Given the description of an element on the screen output the (x, y) to click on. 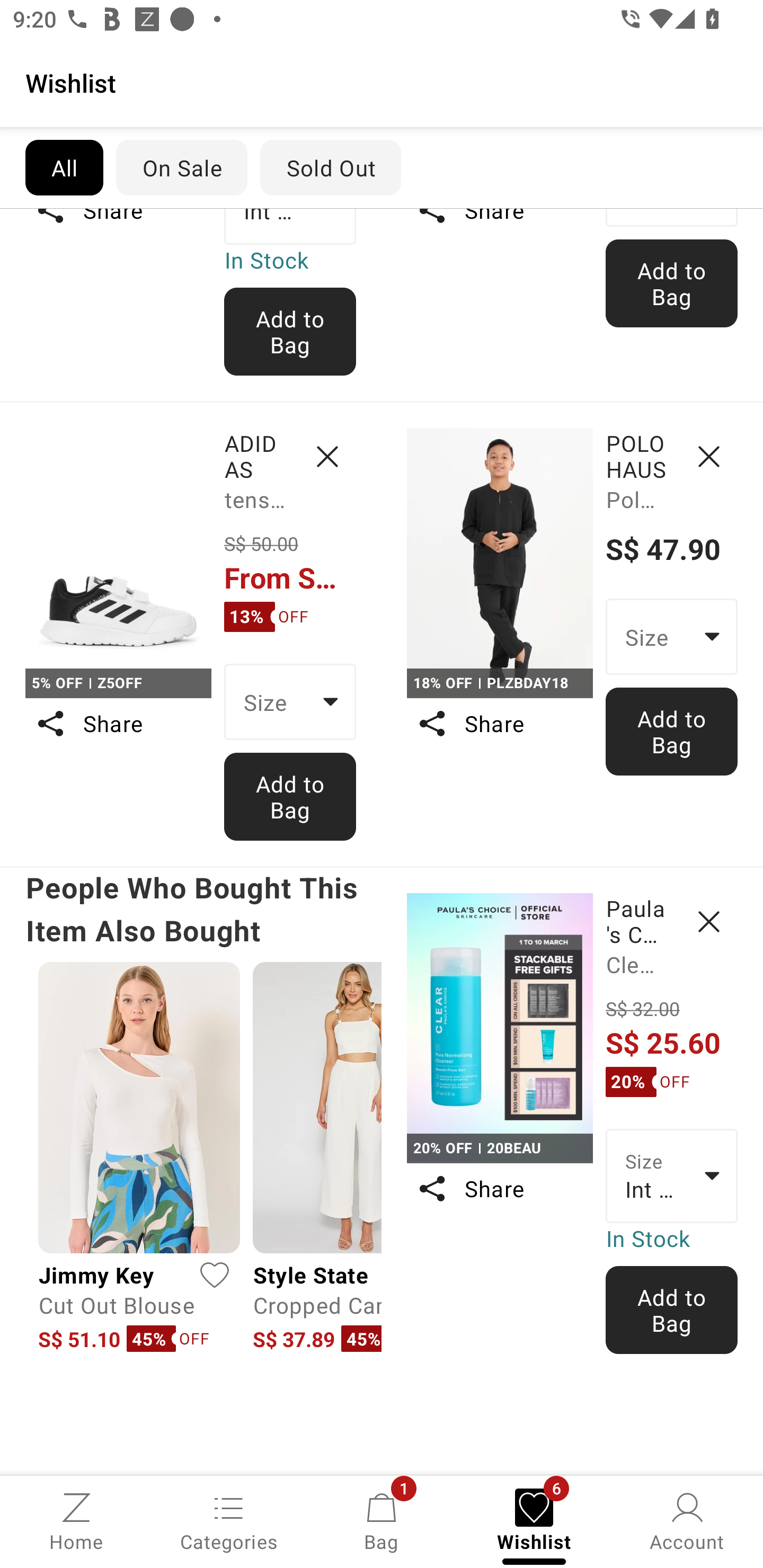
Wishlist (381, 82)
All (64, 167)
On Sale (181, 167)
Sold Out (330, 167)
Add to Bag (671, 283)
Add to Bag (290, 331)
Size (671, 636)
Size (290, 701)
Add to Bag (671, 732)
Share (118, 723)
Share (499, 723)
Add to Bag (290, 796)
Size Int 177 ml (671, 1175)
Share (499, 1188)
Add to Bag (671, 1309)
Home (76, 1519)
Categories (228, 1519)
Bag, 1 new notification Bag (381, 1519)
Account (686, 1519)
